Given the description of an element on the screen output the (x, y) to click on. 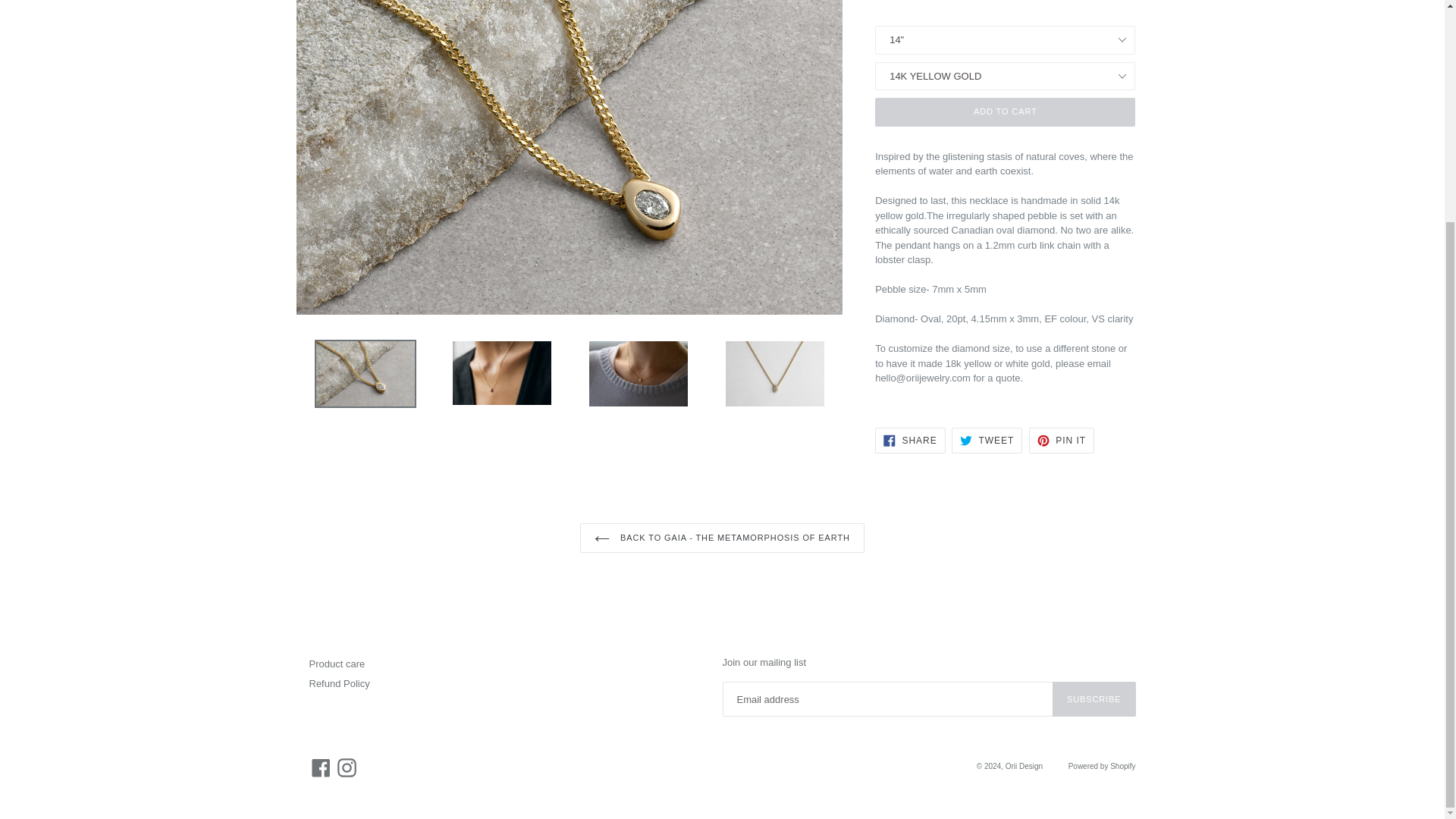
Pin on Pinterest (1061, 440)
ADD TO CART (1061, 440)
Tweet on Twitter (909, 440)
Share on Facebook (1005, 111)
Orii Design on Facebook (987, 440)
Orii Design on Instagram (987, 440)
